Given the description of an element on the screen output the (x, y) to click on. 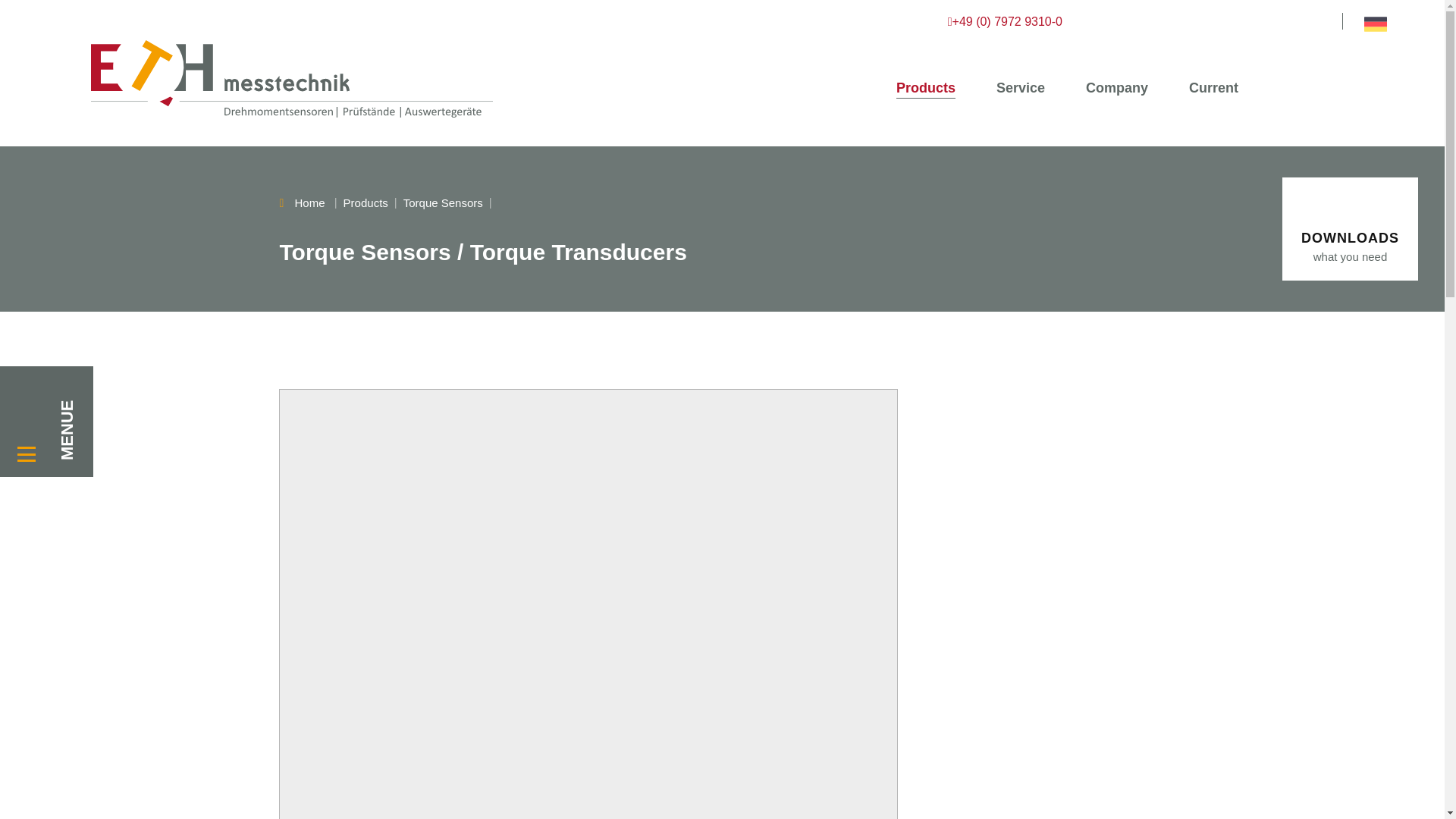
Products (925, 87)
Products (925, 87)
to homepage - Opens internal link in the current window (246, 73)
Service (1020, 87)
